Given the description of an element on the screen output the (x, y) to click on. 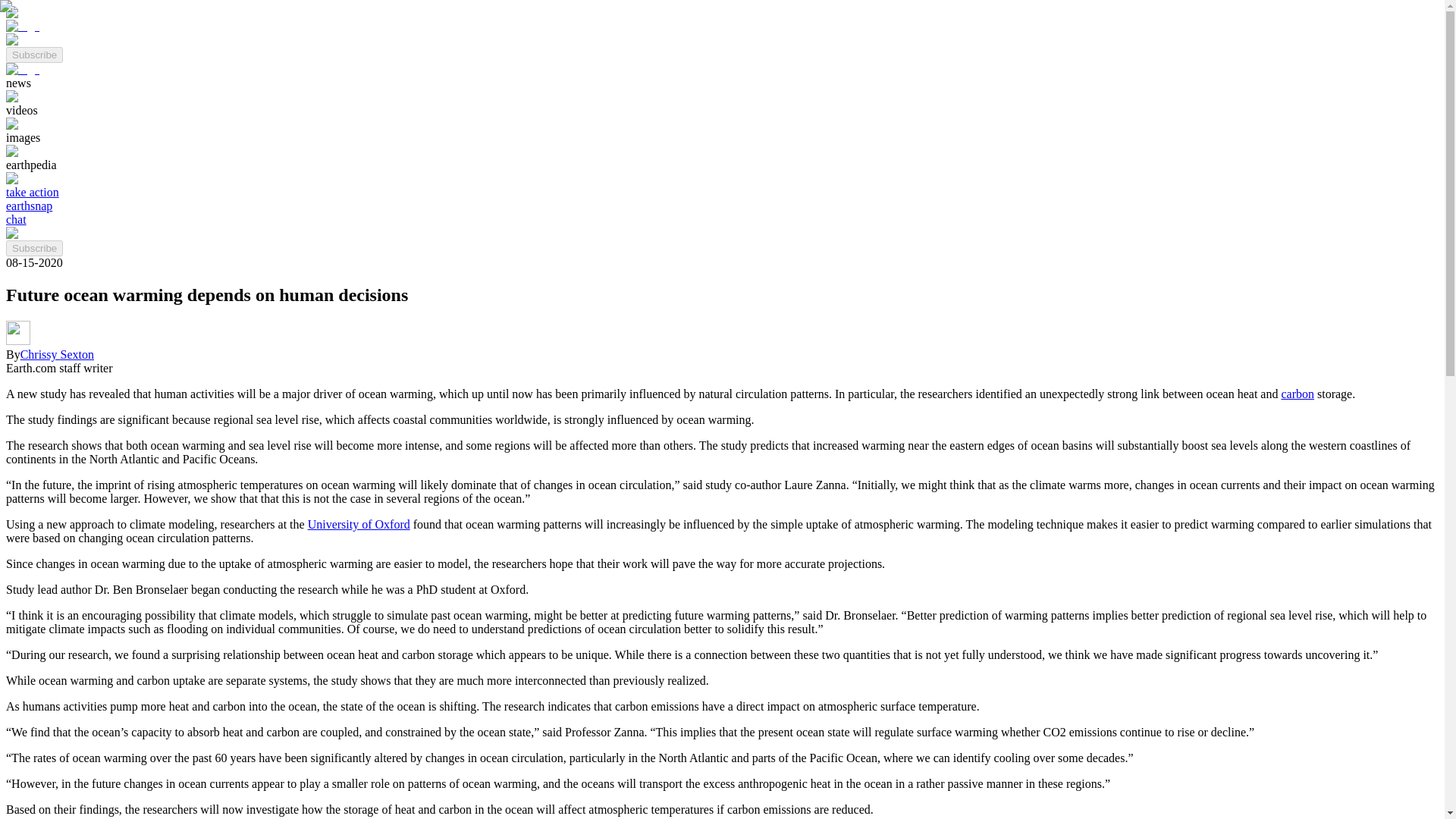
Chrissy Sexton (57, 354)
take action (32, 192)
carbon (1297, 393)
Subscribe (33, 53)
Subscribe (33, 246)
University of Oxford (358, 523)
Subscribe (33, 248)
chat (15, 219)
earthsnap (28, 205)
Subscribe (33, 54)
